Given the description of an element on the screen output the (x, y) to click on. 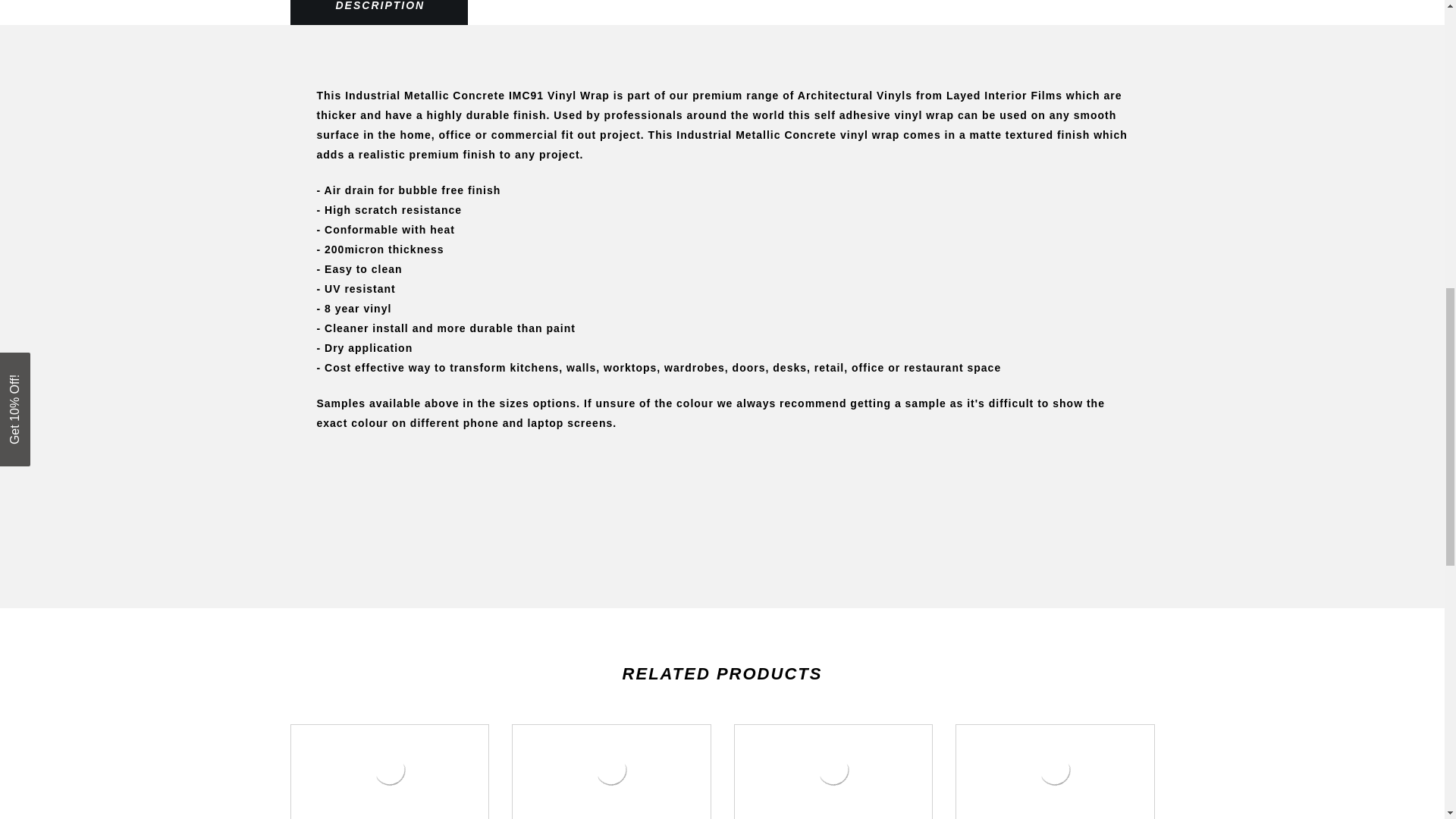
FOSSIL GREY CONCRETE VINYL WRAP FGC49 (611, 769)
Combo Special! Felt Squeegee and 9mm Retractable Blade (390, 769)
SMOKE GREY CONCRETE VINYL WRAP SGC47 (1054, 769)
RAW CONCRETE VINYL WRAP RC46 (832, 769)
